Given the description of an element on the screen output the (x, y) to click on. 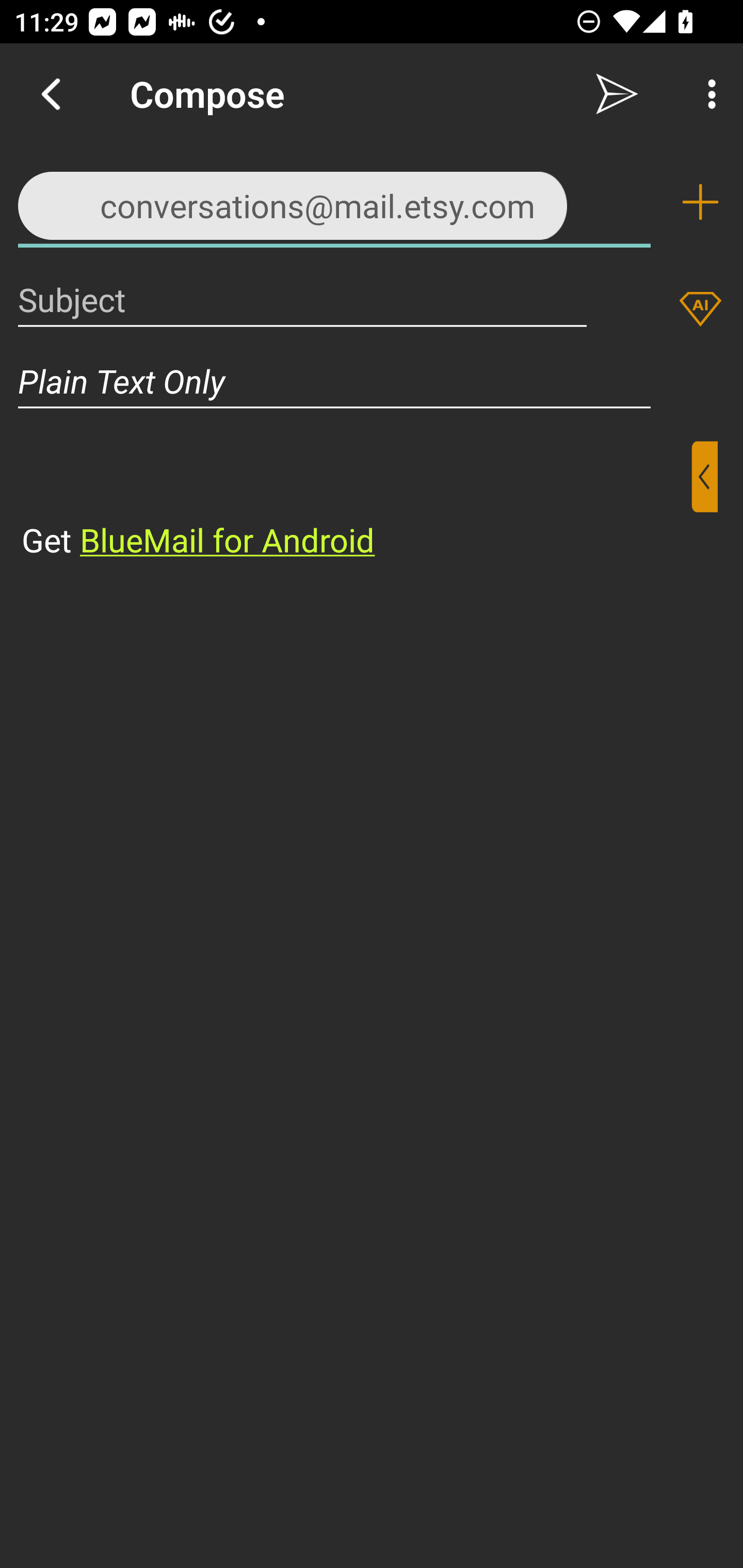
Navigate up (50, 93)
Send (616, 93)
More Options (706, 93)
<conversations@mail.etsy.com>,  (334, 201)
Add recipient (To) (699, 201)
Subject (302, 299)
Plain Text Only (371, 380)


⁣Get BlueMail for Android ​ (355, 501)
